Given the description of an element on the screen output the (x, y) to click on. 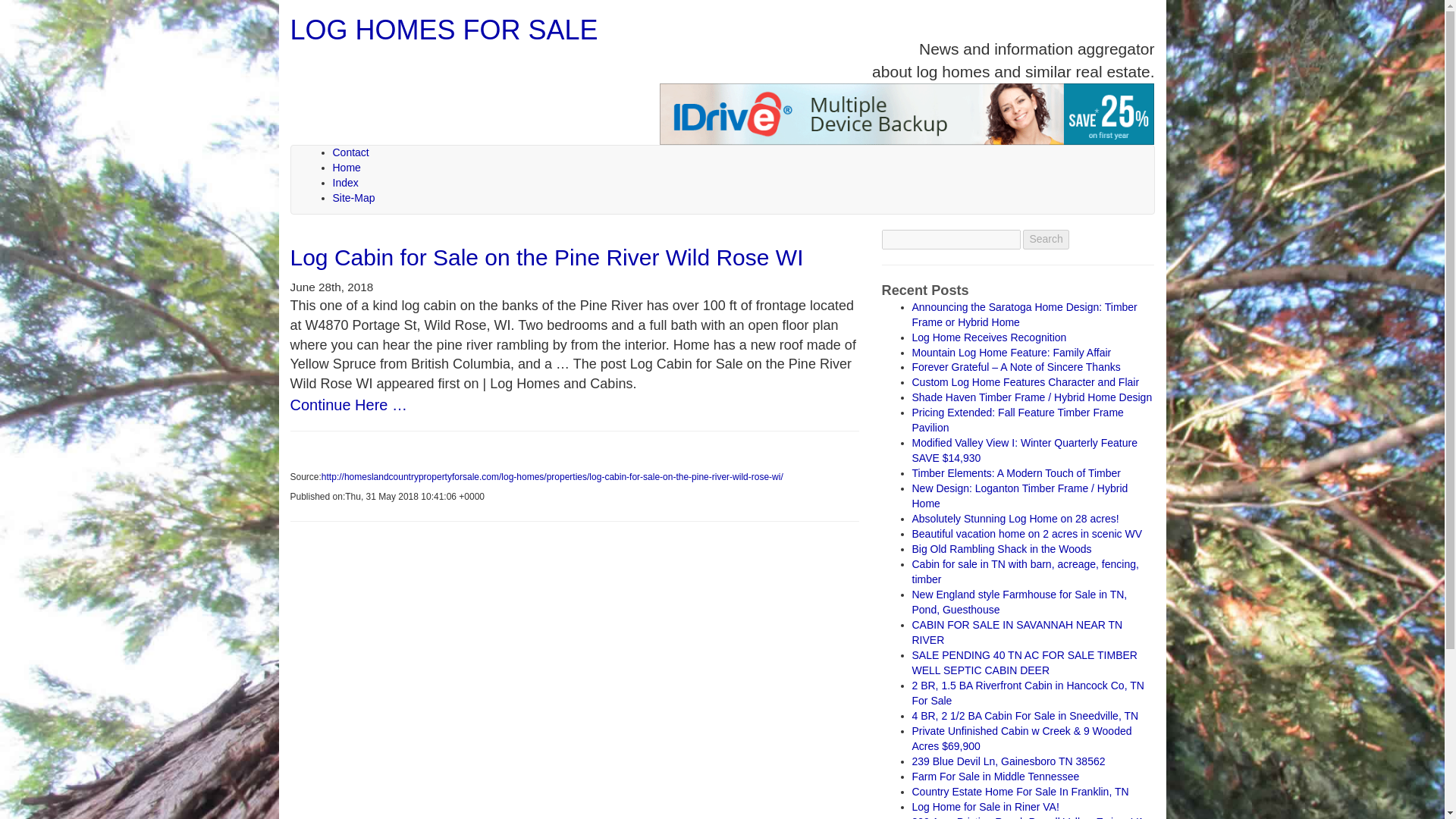
Log Home Receives Recognition (988, 337)
SALE PENDING 40 TN AC FOR SALE TIMBER WELL SEPTIC CABIN DEER (1024, 662)
Log Home for Sale in Riner VA! (984, 806)
IDrive Remote Backup (906, 113)
Country Estate Home For Sale In Franklin, TN (1019, 791)
Absolutely Stunning Log Home on 28 acres! (1014, 518)
Mountain Log Home Feature: Family Affair (1010, 351)
Beautiful vacation home on 2 acres in scenic WV (1026, 533)
Pricing Extended: Fall Feature Timber Frame Pavilion (1016, 420)
239 Blue Devil Ln, Gainesboro TN 38562 (1008, 761)
Search (1045, 239)
Log Cabin for Sale on the Pine River Wild Rose WI (546, 257)
2 BR, 1.5 BA Riverfront Cabin in Hancock Co, TN For Sale (1026, 692)
Big Old Rambling Shack in the Woods (1000, 548)
CABIN FOR SALE IN SAVANNAH NEAR TN RIVER (1016, 632)
